Given the description of an element on the screen output the (x, y) to click on. 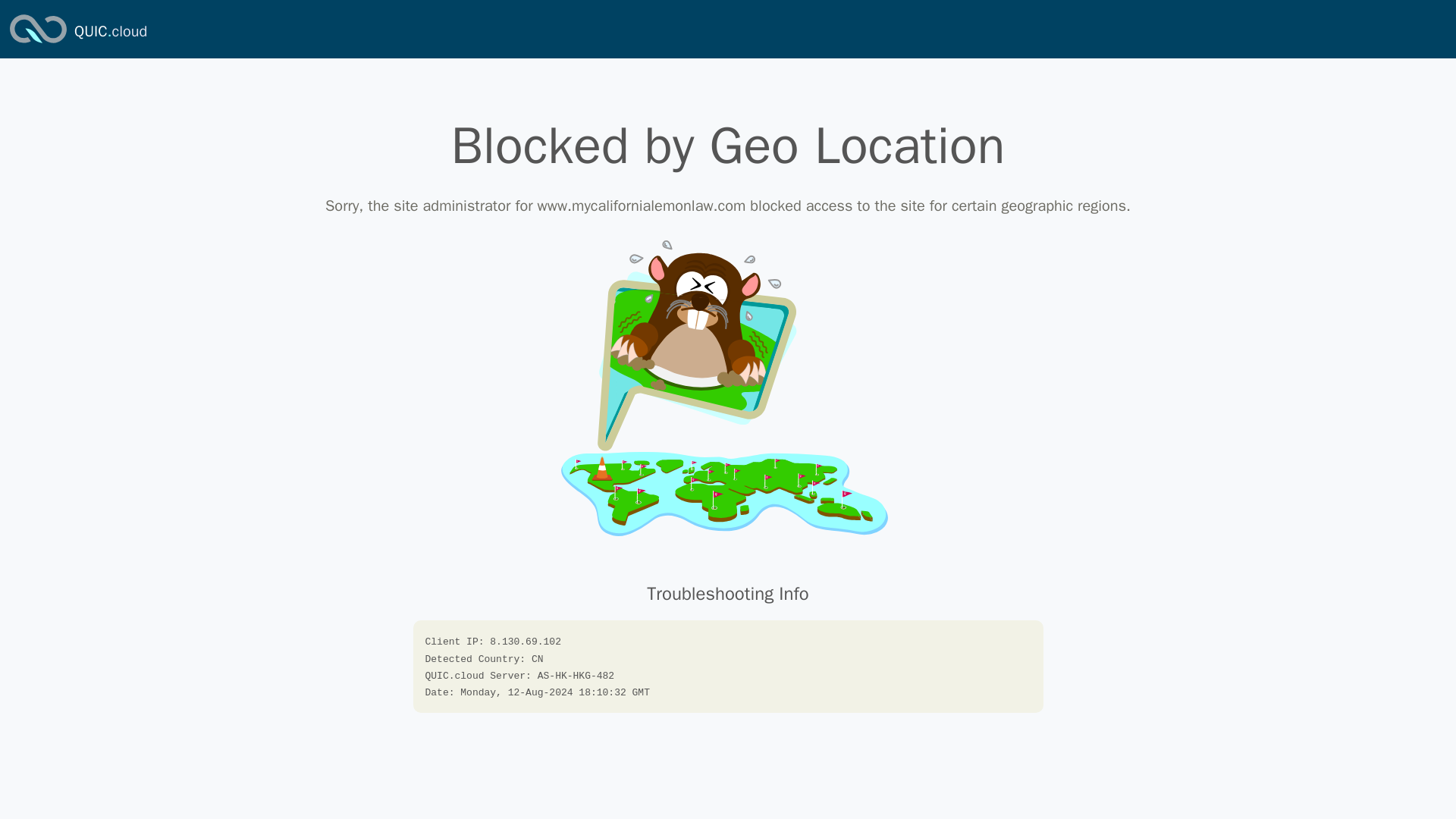
QUIC.cloud (110, 31)
QUIC.cloud (110, 31)
QUIC.cloud (37, 43)
